Given the description of an element on the screen output the (x, y) to click on. 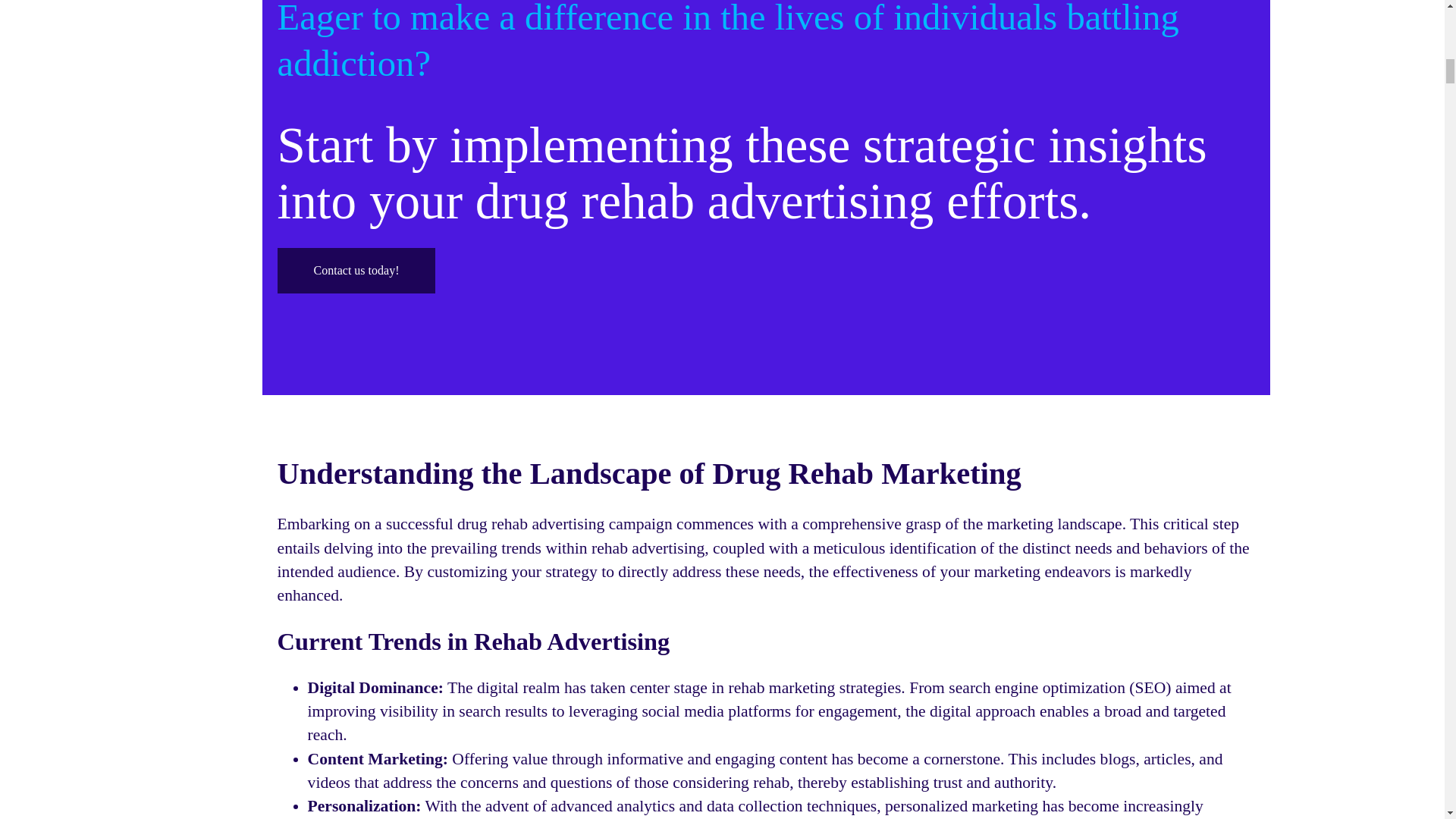
Contact us today! (356, 270)
